Given the description of an element on the screen output the (x, y) to click on. 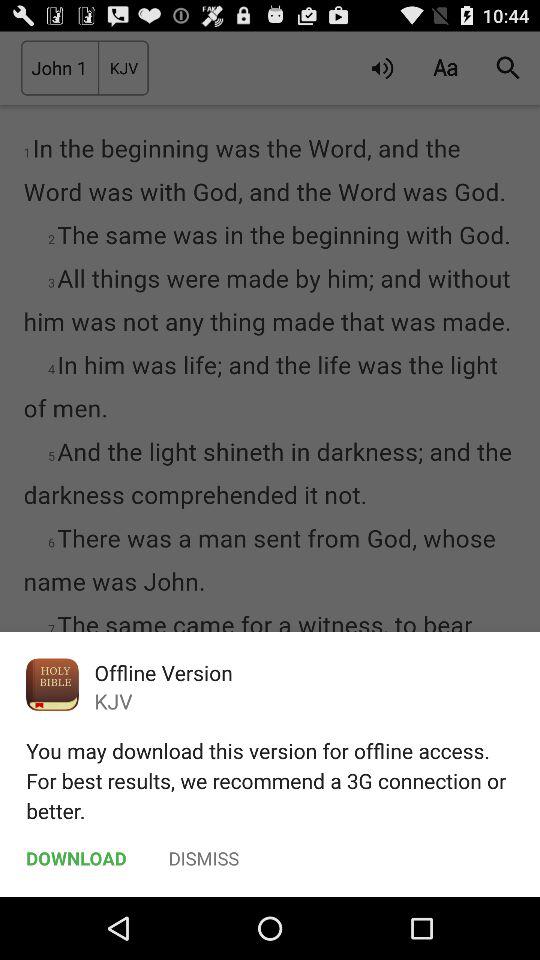
click the item below the you may download item (203, 858)
